Given the description of an element on the screen output the (x, y) to click on. 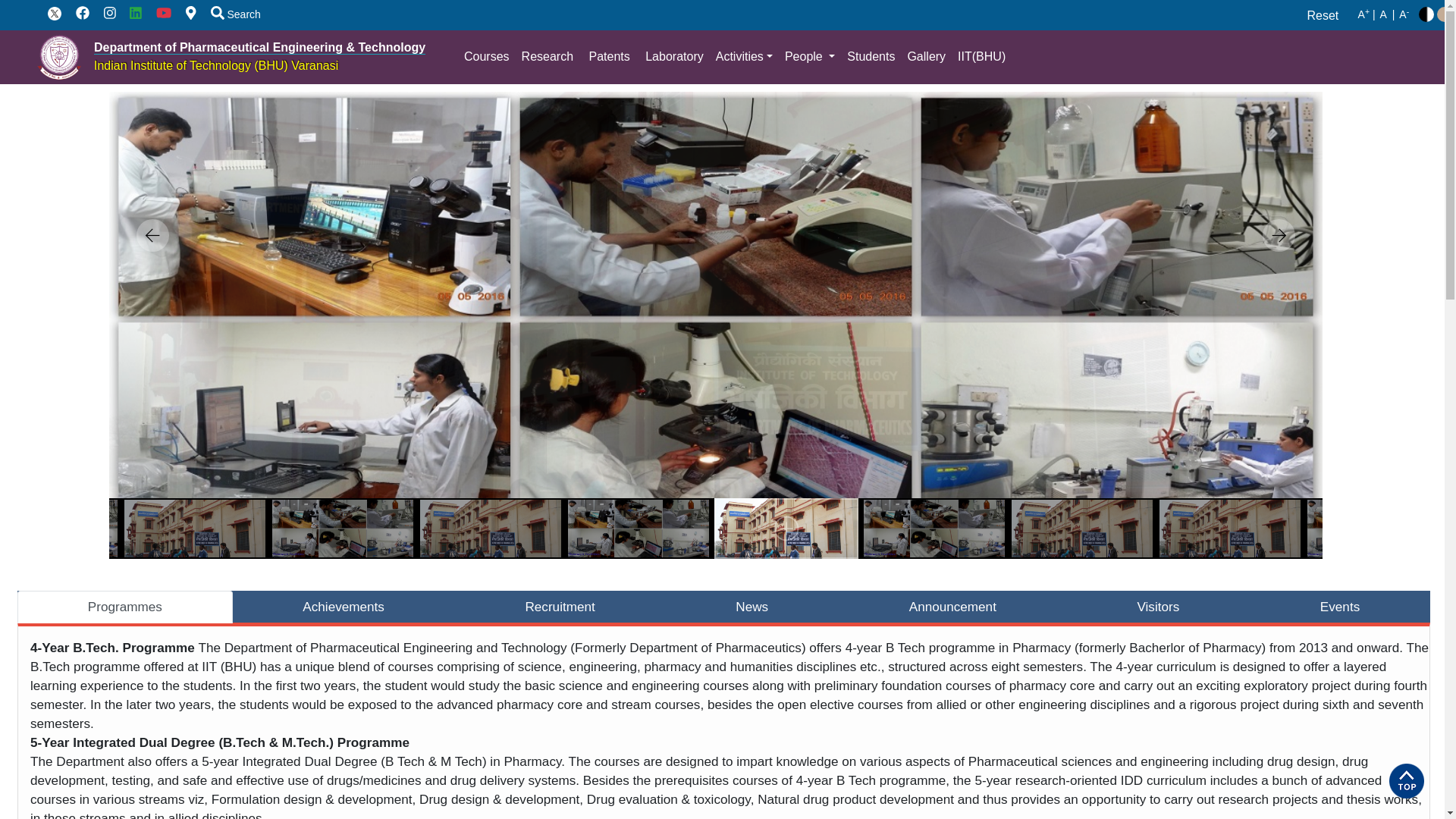
Skip to main content (721, 1)
Students (869, 56)
People (808, 56)
Search (229, 14)
Activities (743, 56)
Courses (486, 56)
Research (547, 56)
Gallery (926, 56)
Laboratory (674, 56)
